Given the description of an element on the screen output the (x, y) to click on. 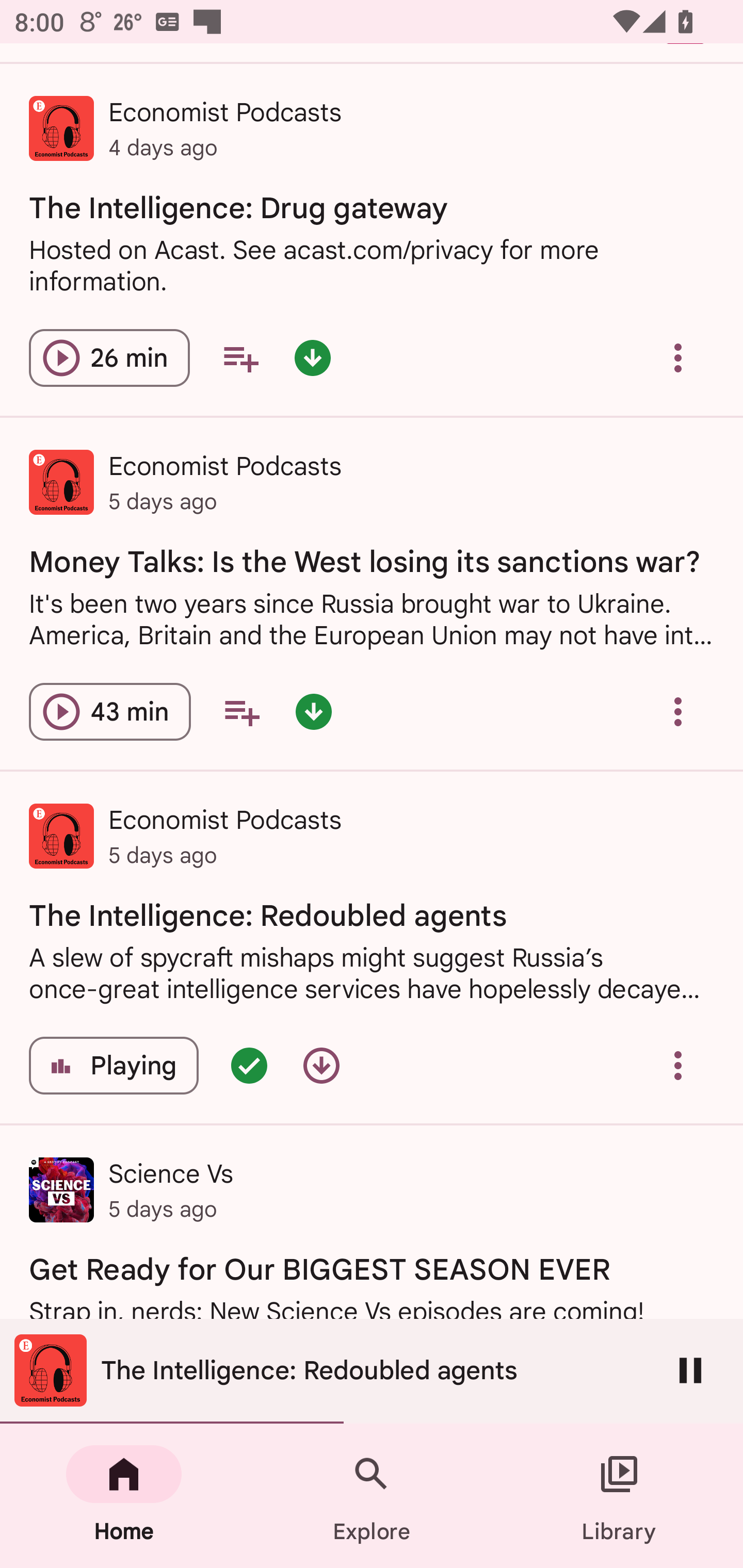
Play episode The Intelligence: Drug gateway 26 min (109, 358)
Add to your queue (240, 358)
Episode downloaded - double tap for options (312, 358)
Overflow menu (677, 358)
Add to your queue (241, 711)
Episode downloaded - double tap for options (313, 711)
Overflow menu (677, 711)
Episode queued - double tap for options (249, 1065)
Download episode (321, 1065)
Overflow menu (677, 1065)
Pause (690, 1370)
Explore (371, 1495)
Library (619, 1495)
